Given the description of an element on the screen output the (x, y) to click on. 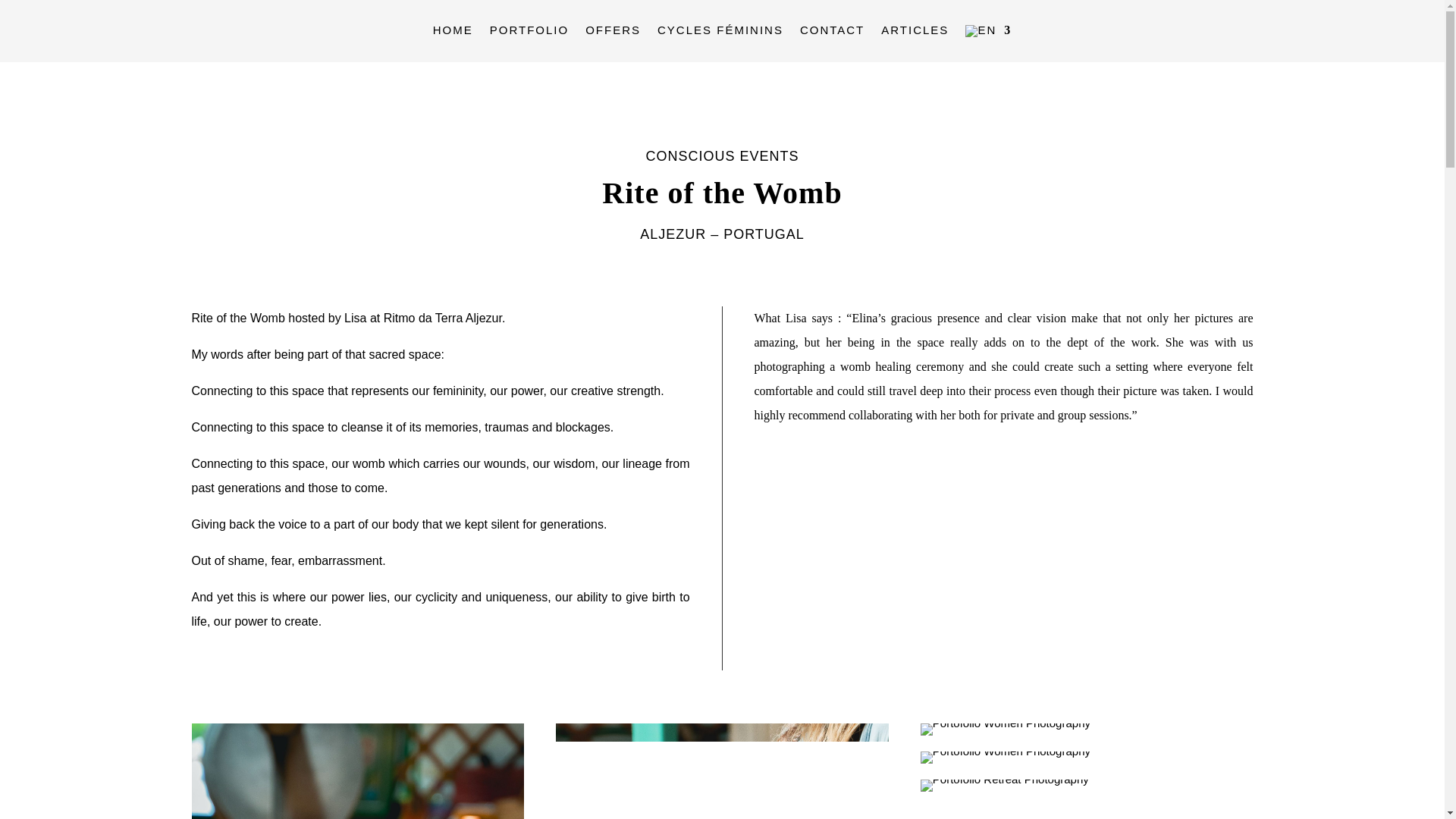
A7305931 (1005, 757)
OFFERS (612, 34)
PORTFOLIO (529, 34)
HOME (452, 34)
A7305840 (357, 771)
ARTICLES (914, 34)
CONTACT (831, 34)
